Given the description of an element on the screen output the (x, y) to click on. 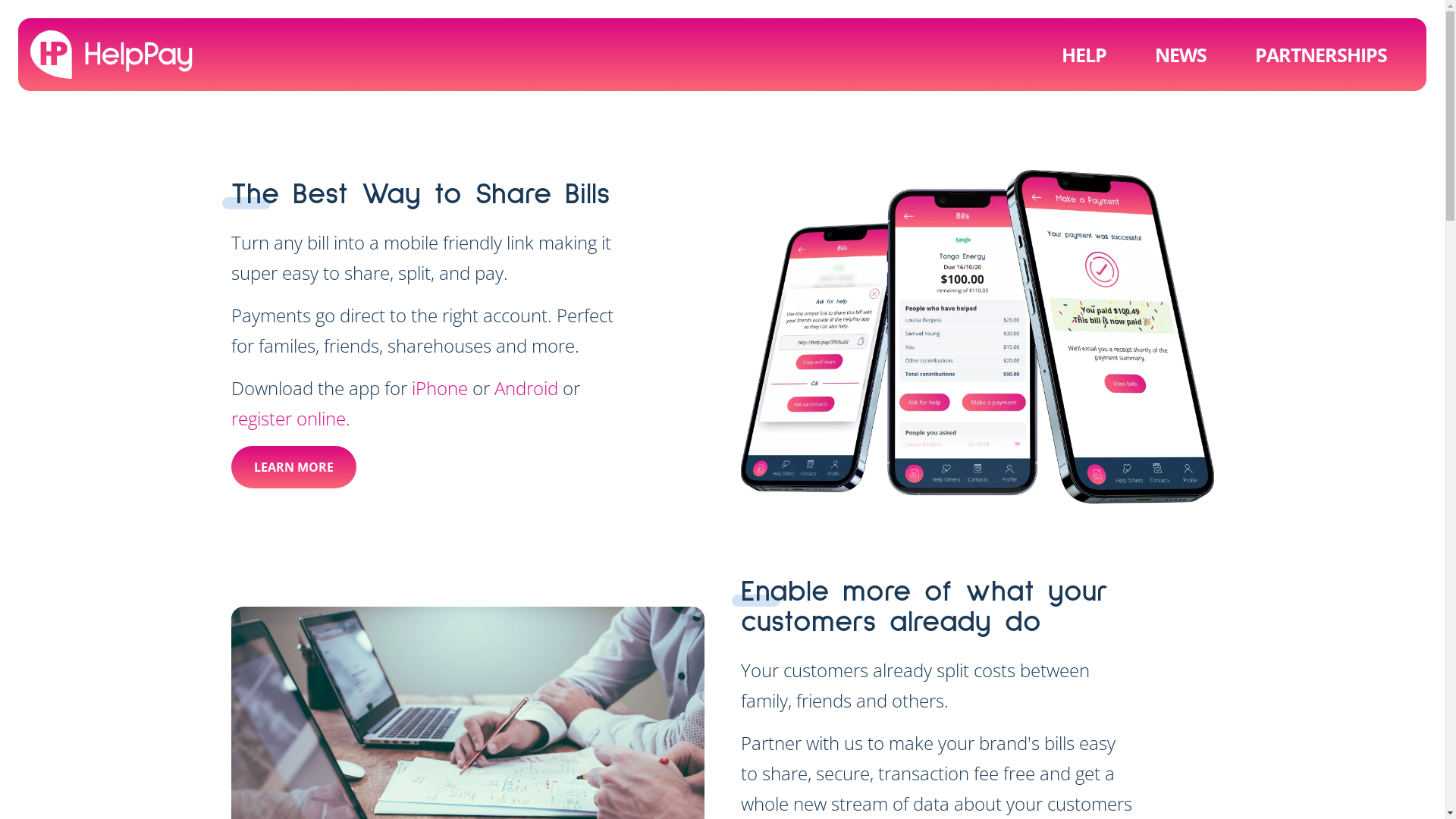
PARTNERSHIPS Element type: text (1316, 54)
Android Element type: text (528, 387)
HELP Element type: text (1083, 54)
LEARN MORE Element type: text (292, 466)
register online. Element type: text (404, 433)
NEWS Element type: text (1180, 54)
iPhone Element type: text (439, 387)
